Given the description of an element on the screen output the (x, y) to click on. 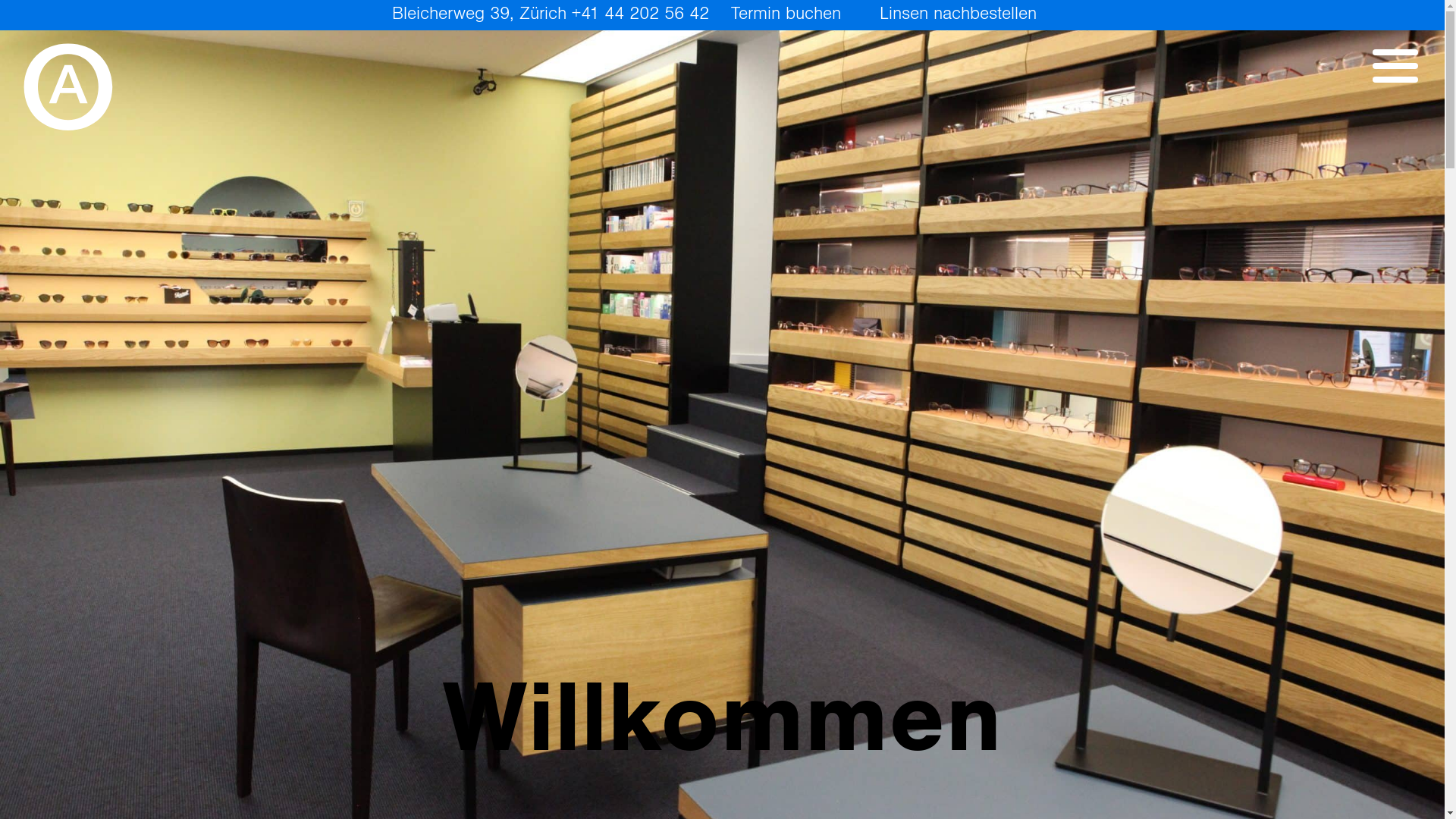
Linsen nachbestellen Element type: text (957, 13)
Termin buchen Element type: text (785, 13)
+41 44 202 56 42 Element type: text (640, 13)
